Given the description of an element on the screen output the (x, y) to click on. 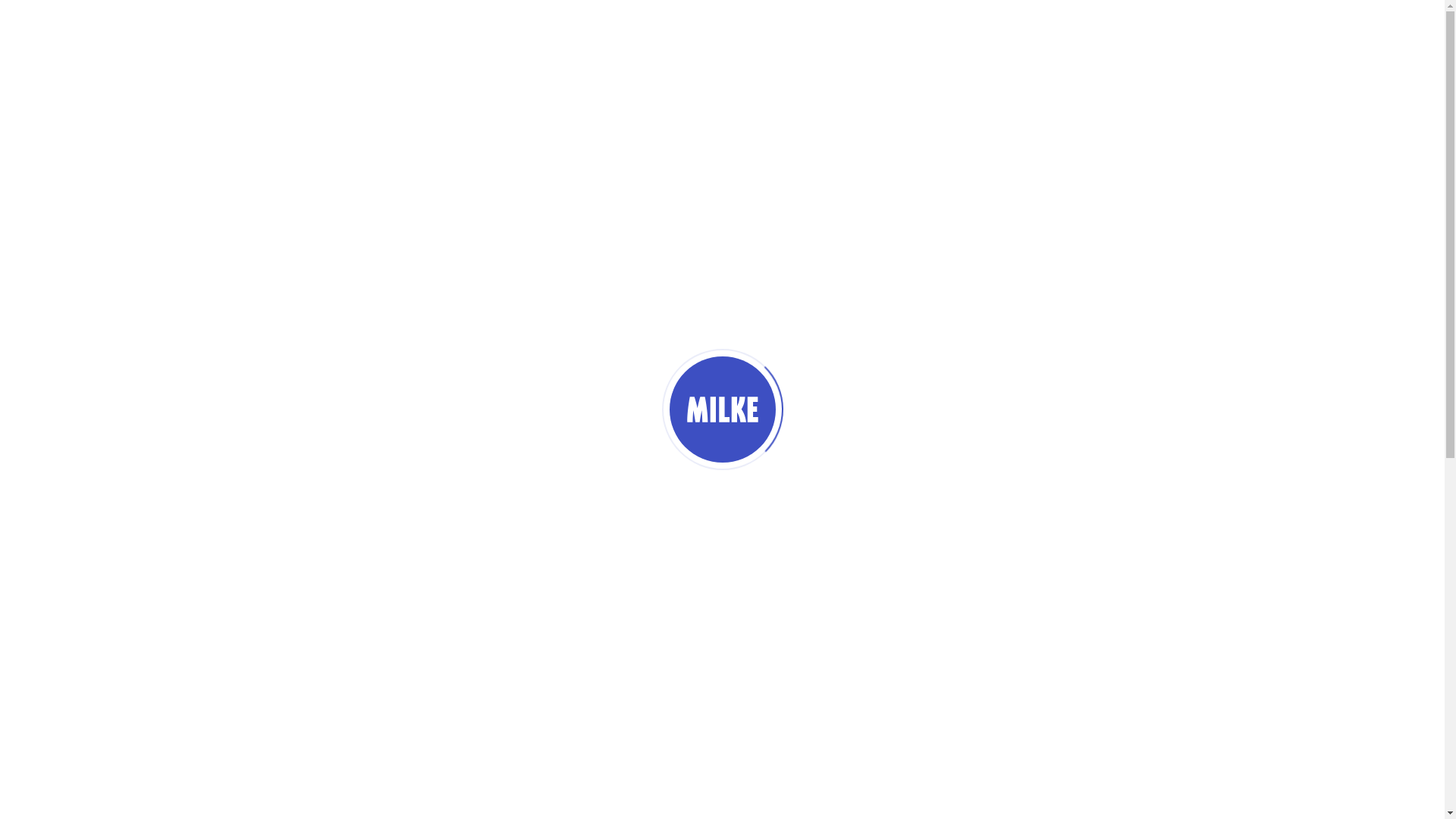
learn Element type: text (908, 462)
resources Element type: text (817, 462)
contact Element type: text (620, 462)
services Element type: text (713, 462)
home Element type: text (538, 462)
